Given the description of an element on the screen output the (x, y) to click on. 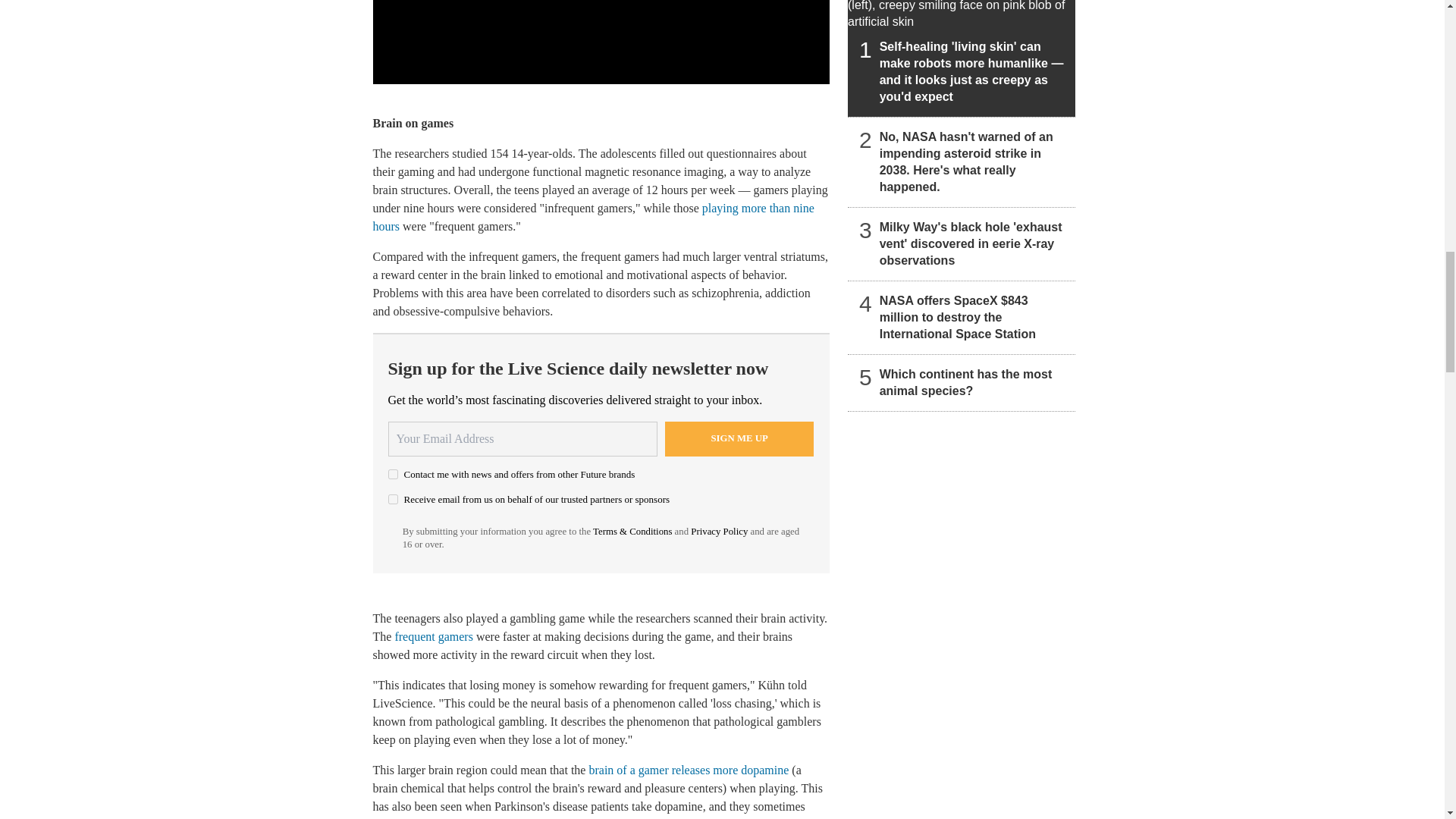
on (392, 474)
on (392, 499)
Sign me up (739, 438)
